Given the description of an element on the screen output the (x, y) to click on. 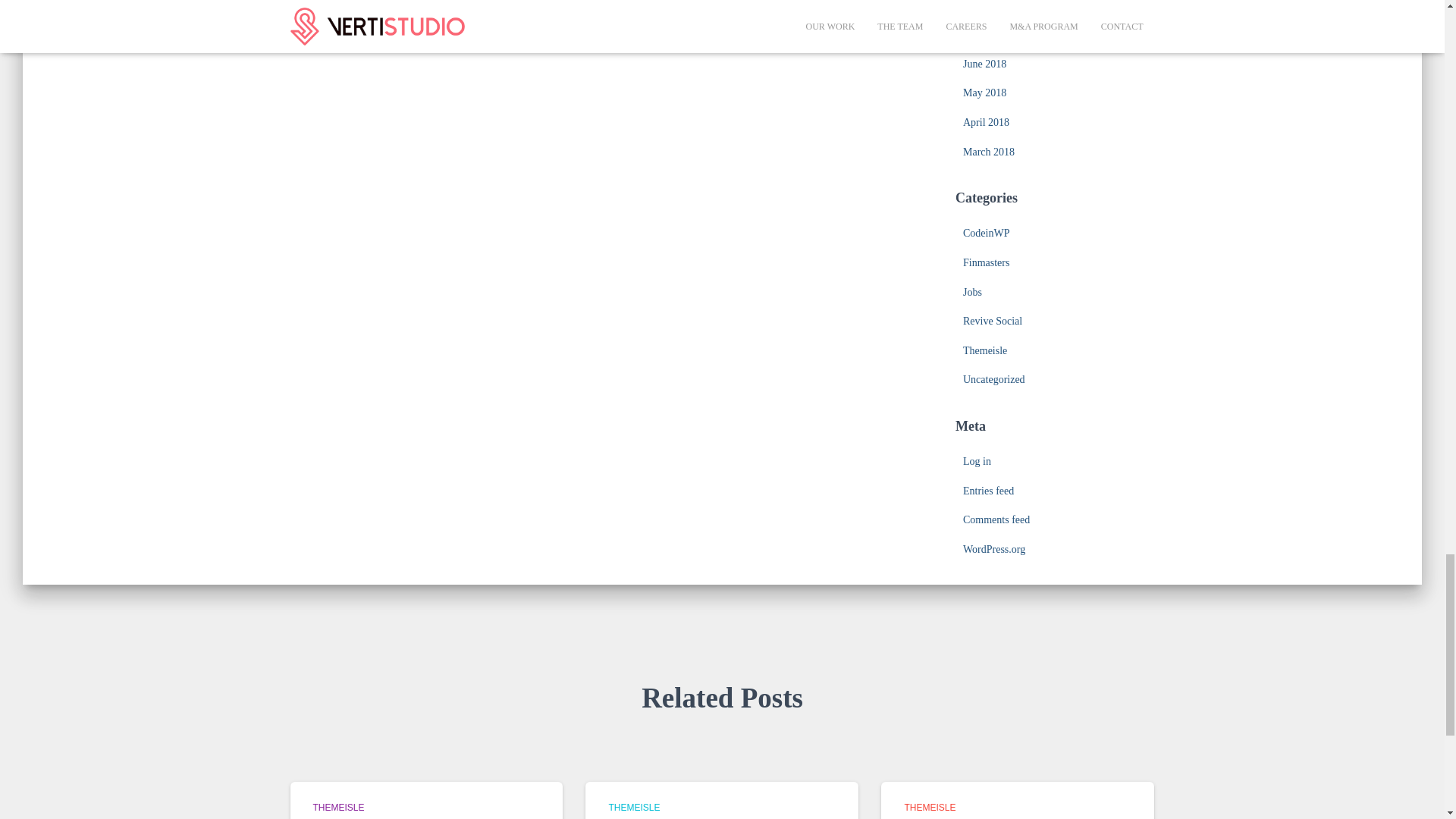
View all posts in Themeisle (338, 807)
View all posts in Themeisle (633, 807)
View all posts in Themeisle (929, 807)
